Given the description of an element on the screen output the (x, y) to click on. 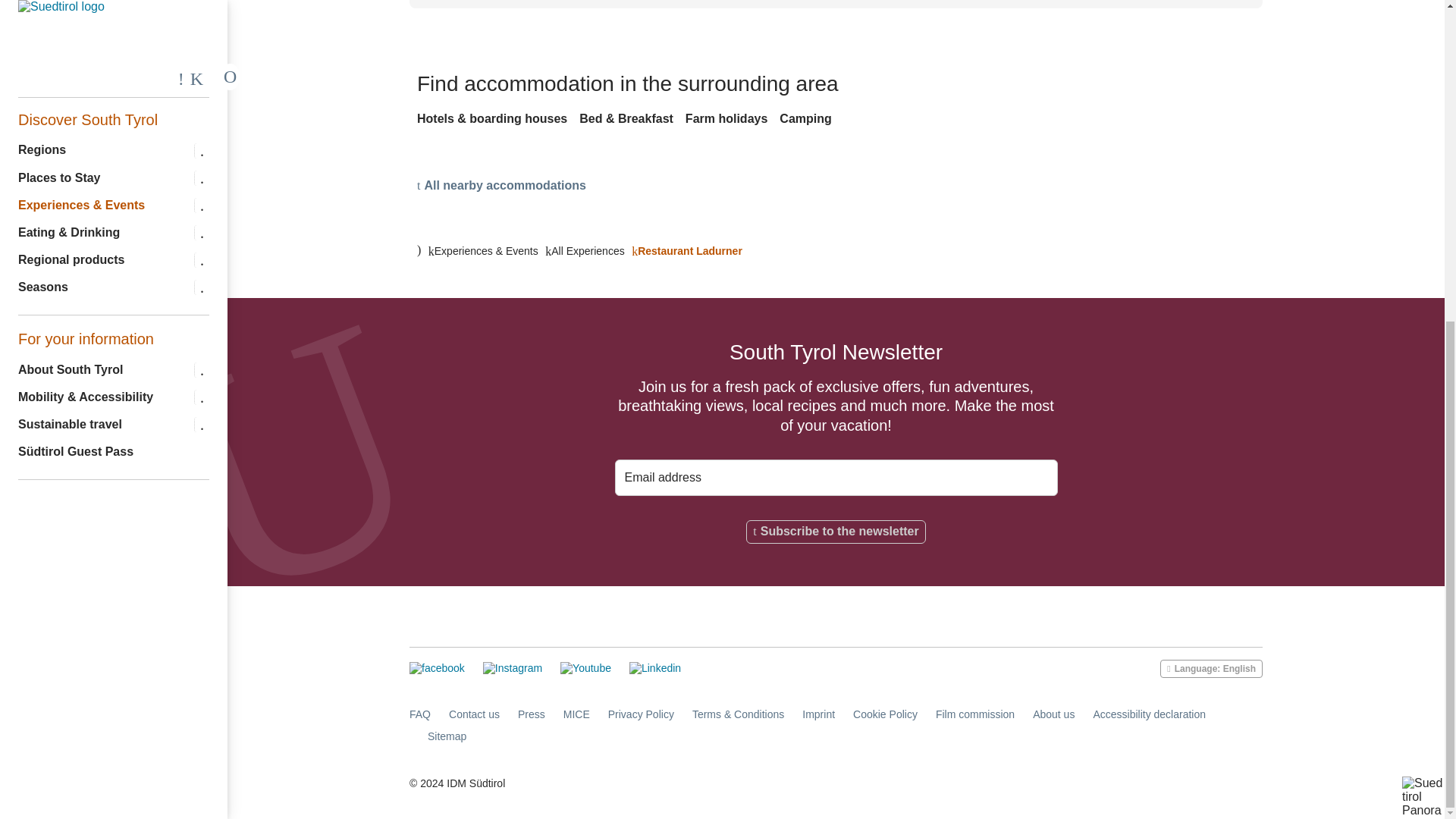
Linkedin (654, 667)
Youtube (585, 667)
facebook (436, 667)
Instagram (512, 667)
